Given the description of an element on the screen output the (x, y) to click on. 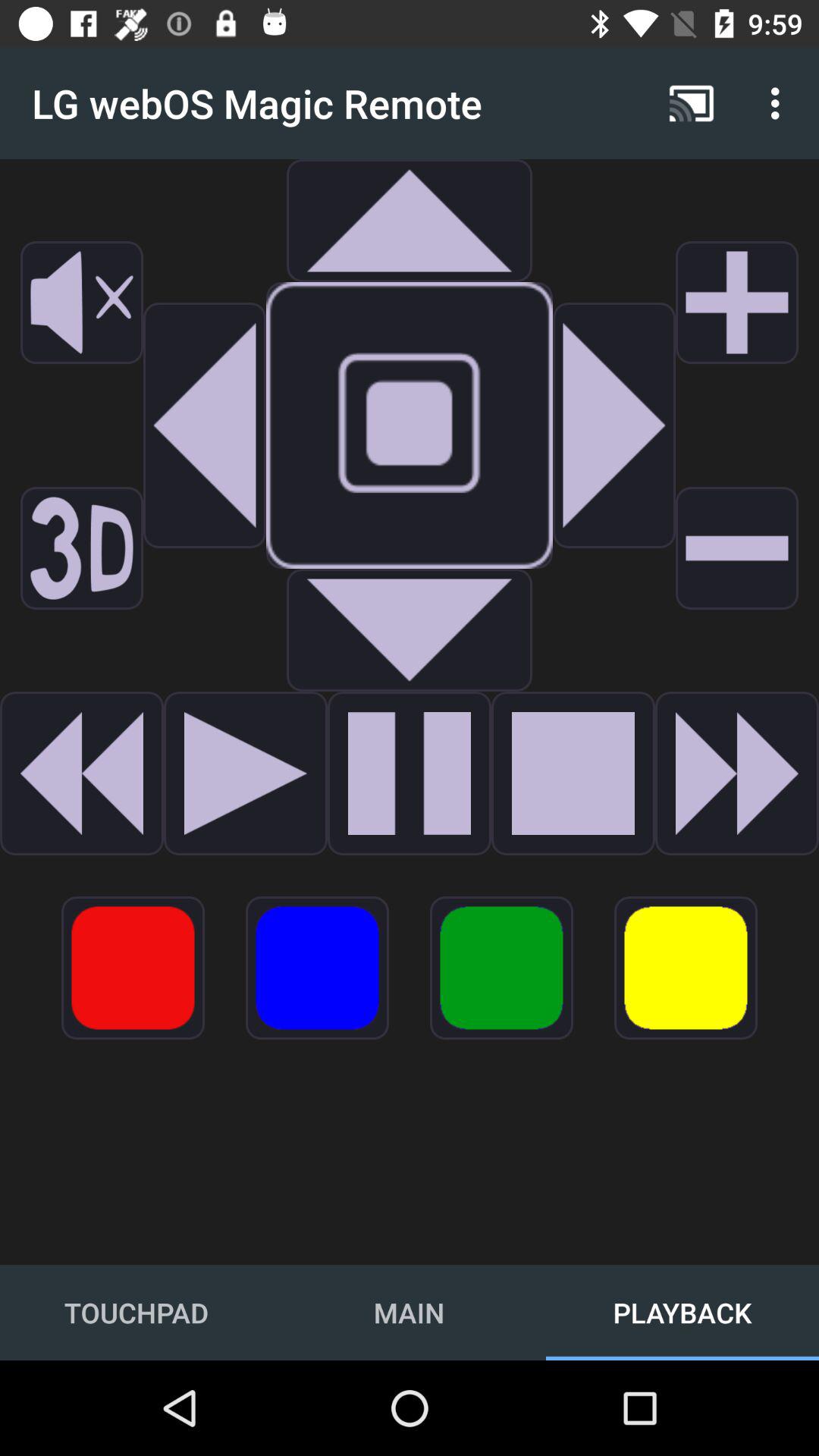
click the icon above the main item (317, 967)
